Given the description of an element on the screen output the (x, y) to click on. 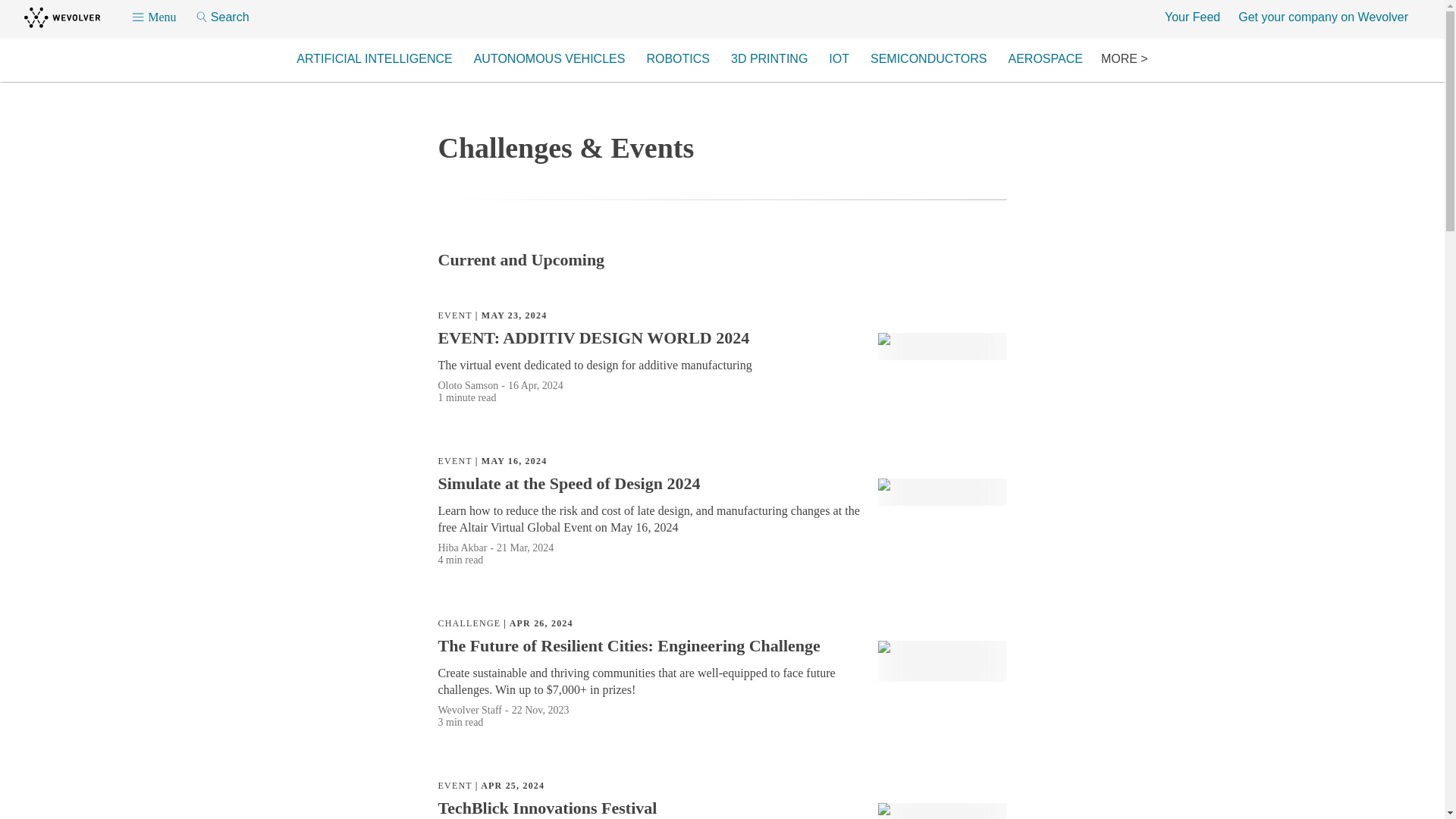
ARTIFICIAL INTELLIGENCE (373, 59)
Your Feed (1192, 17)
The Future of Resilient Cities: Engineering Challenge (632, 646)
Hiba Akbar (462, 547)
IOT (839, 59)
Get your company on Wevolver (1323, 17)
Simulate at the Speed of Design 2024 (572, 484)
ROBOTICS (678, 59)
EVENT (454, 785)
EVENT: ADDITIV DESIGN WORLD 2024 (596, 339)
